Given the description of an element on the screen output the (x, y) to click on. 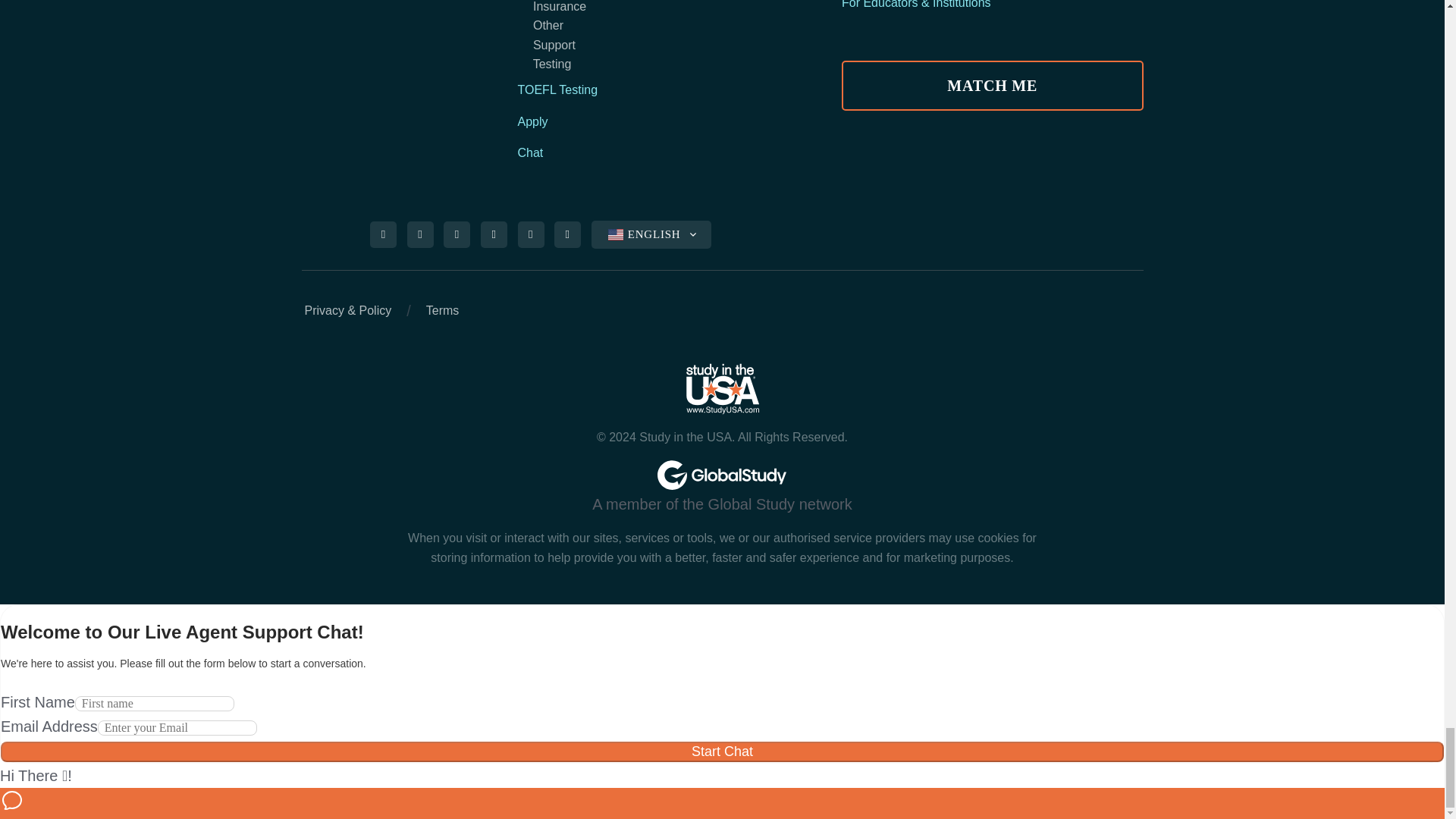
Instagram Icon (419, 234)
Youtube Icon (568, 234)
Facebook Icon (383, 234)
Pinterest Icon (457, 234)
Twitter Icon (530, 234)
TikTok Icon (494, 234)
